Given the description of an element on the screen output the (x, y) to click on. 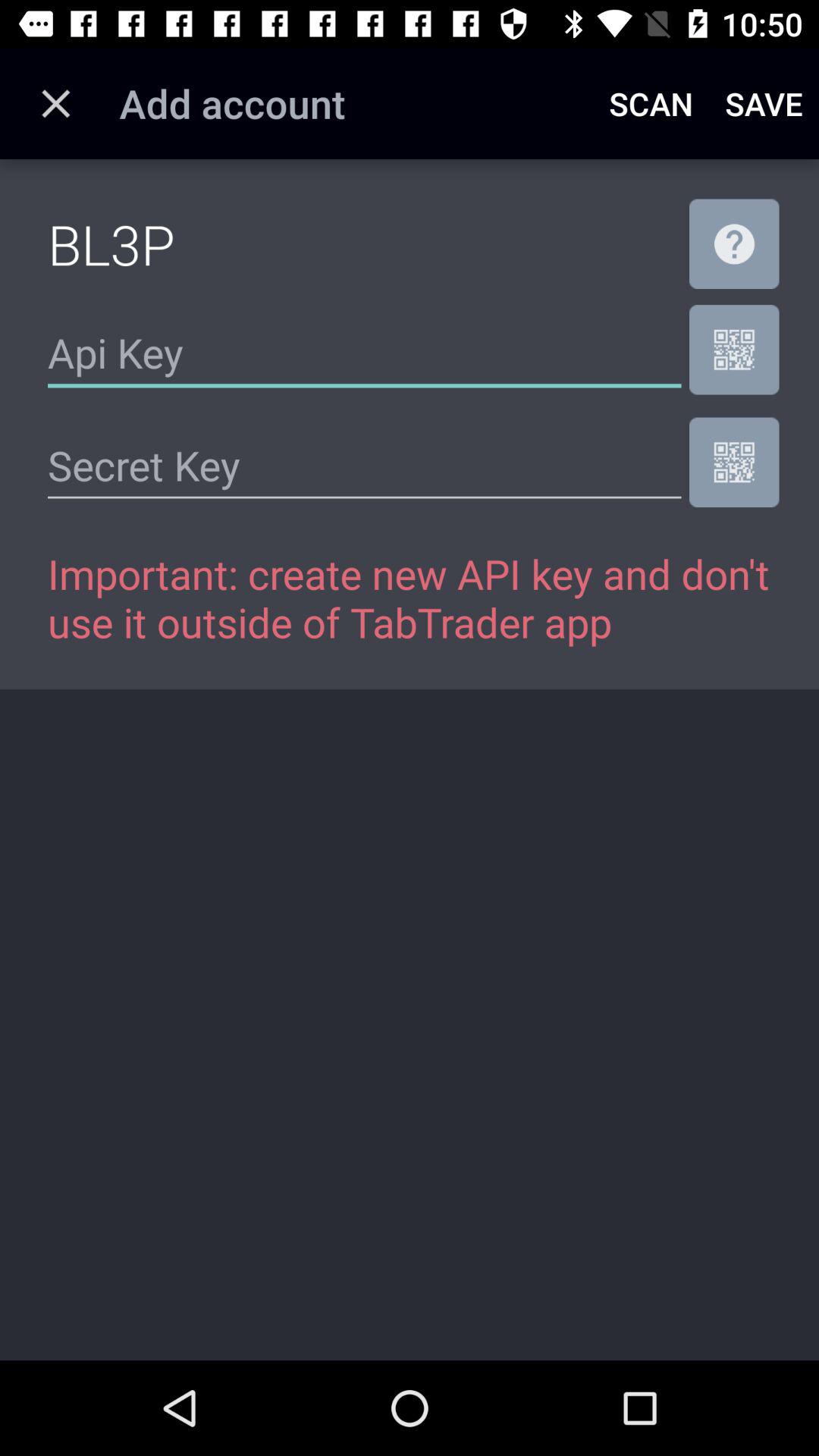
turn off the icon to the right of bl3p item (734, 243)
